Given the description of an element on the screen output the (x, y) to click on. 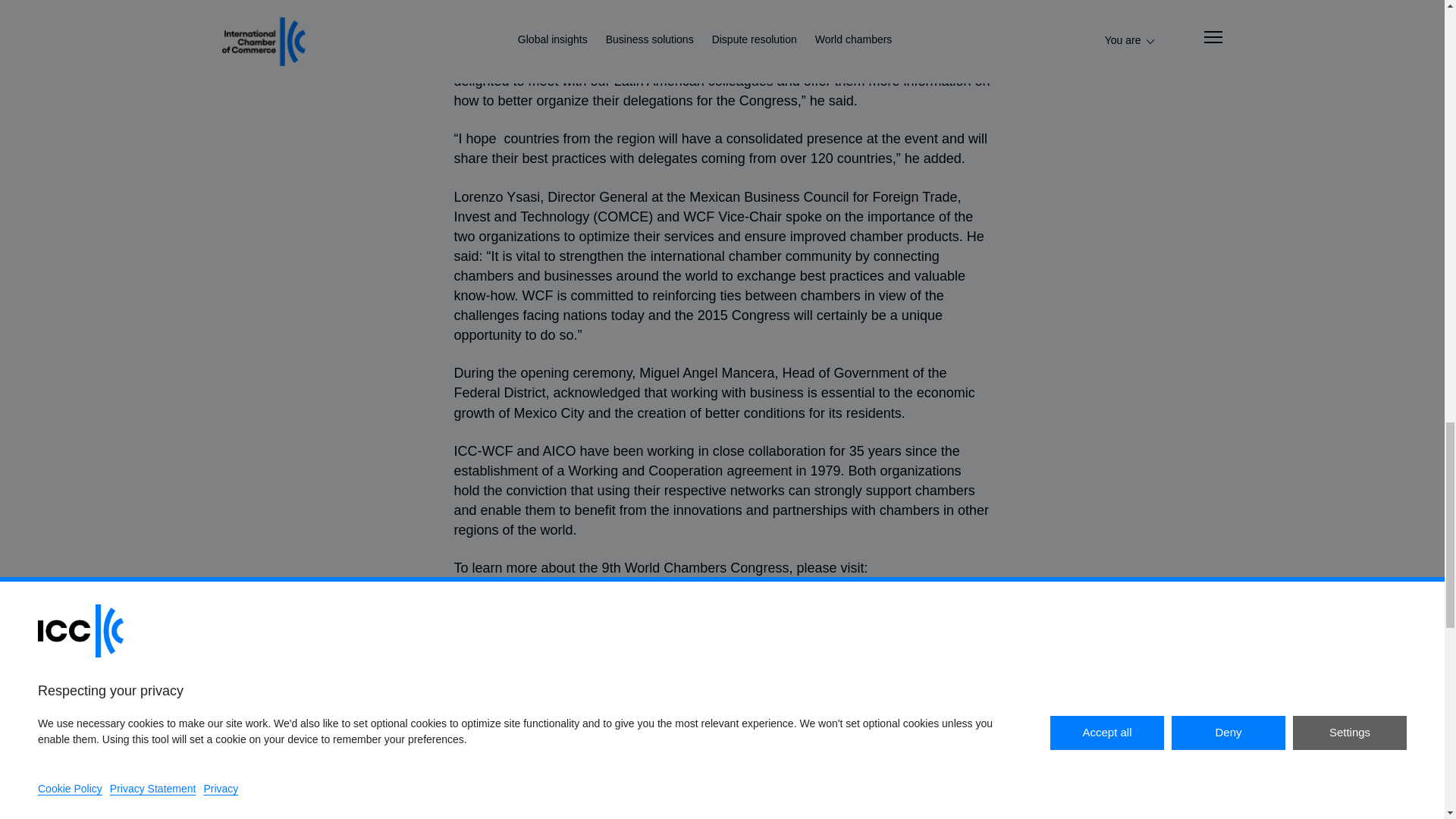
www.worldchamberscongress.org (555, 587)
